Given the description of an element on the screen output the (x, y) to click on. 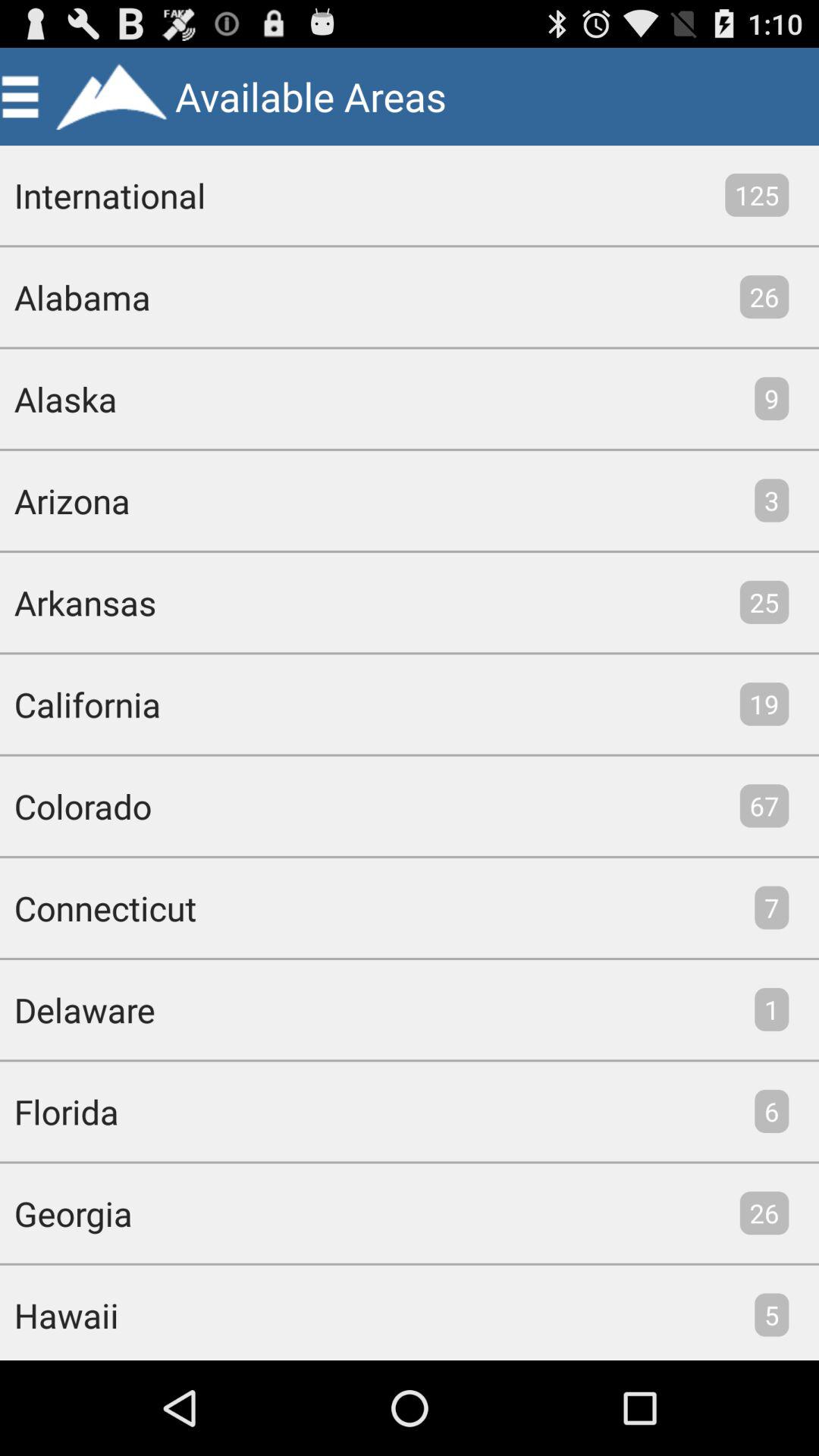
open item above the 25 item (771, 500)
